Given the description of an element on the screen output the (x, y) to click on. 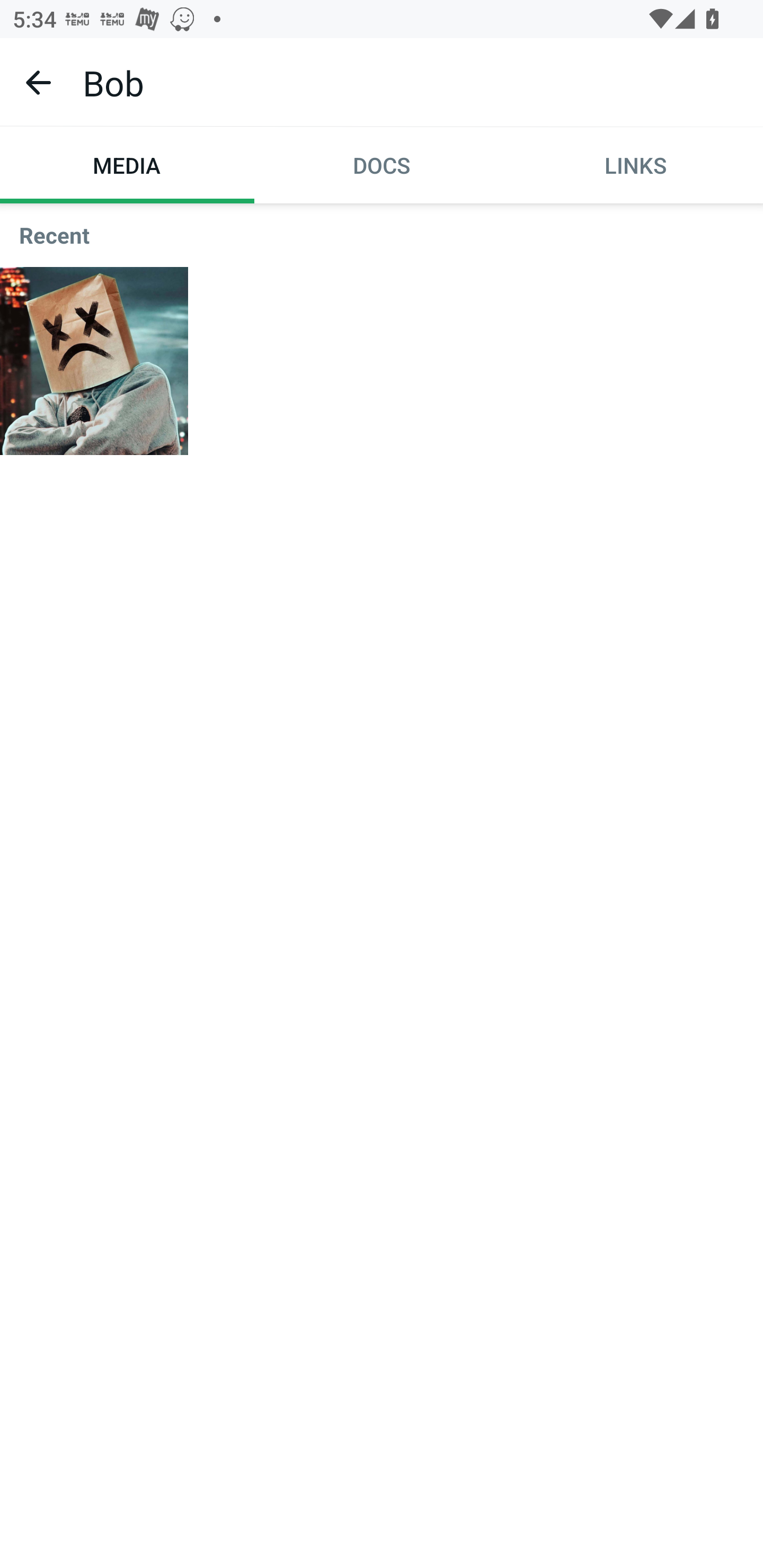
Navigate up (38, 82)
Docs DOCS (381, 165)
Links LINKS (635, 165)
Recent (381, 234)
Photo (94, 360)
